Given the description of an element on the screen output the (x, y) to click on. 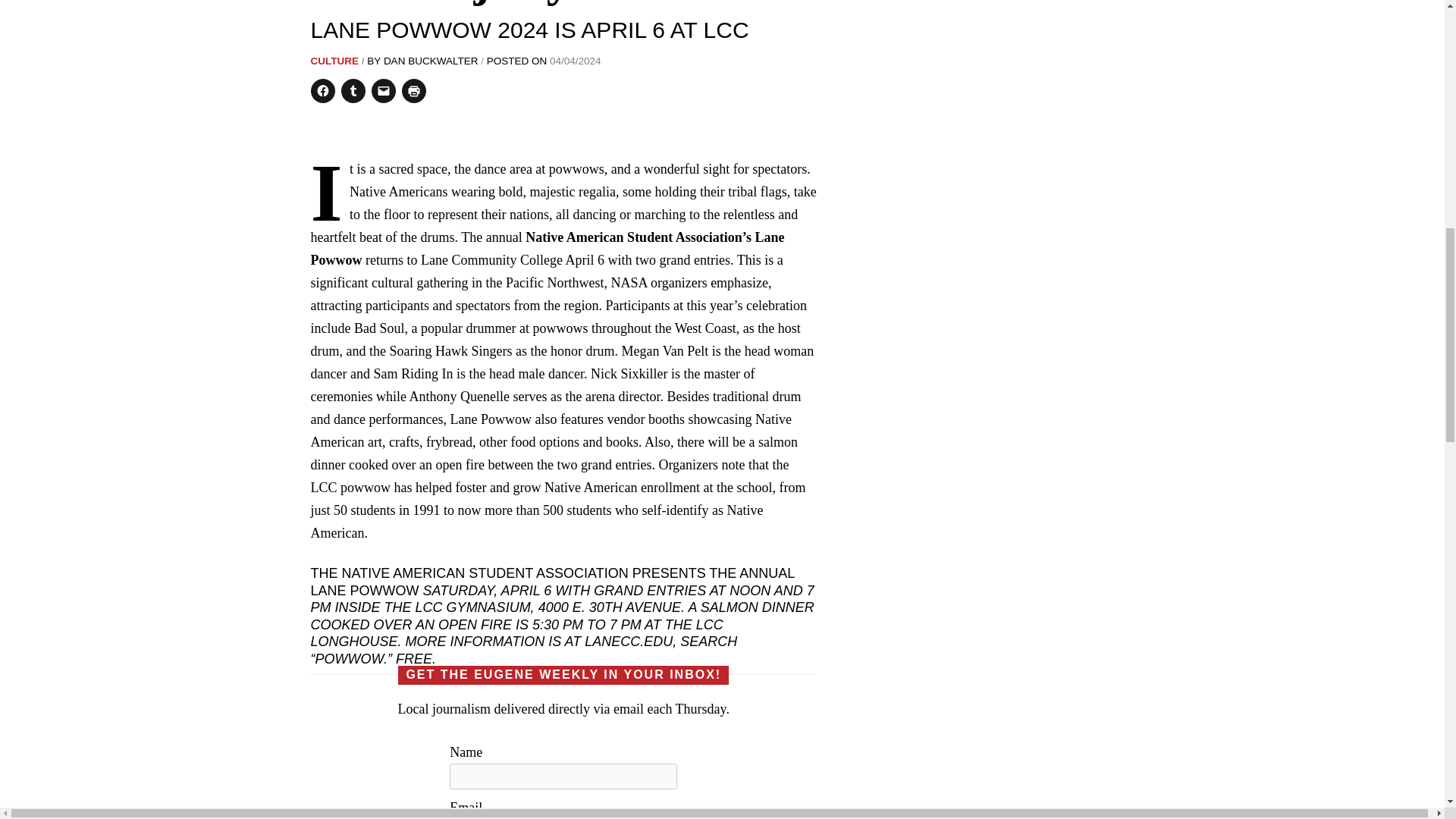
Click to email a link to a friend (383, 90)
Click to share on Facebook (322, 90)
Click to print (413, 90)
Click to share on Tumblr (352, 90)
